Given the description of an element on the screen output the (x, y) to click on. 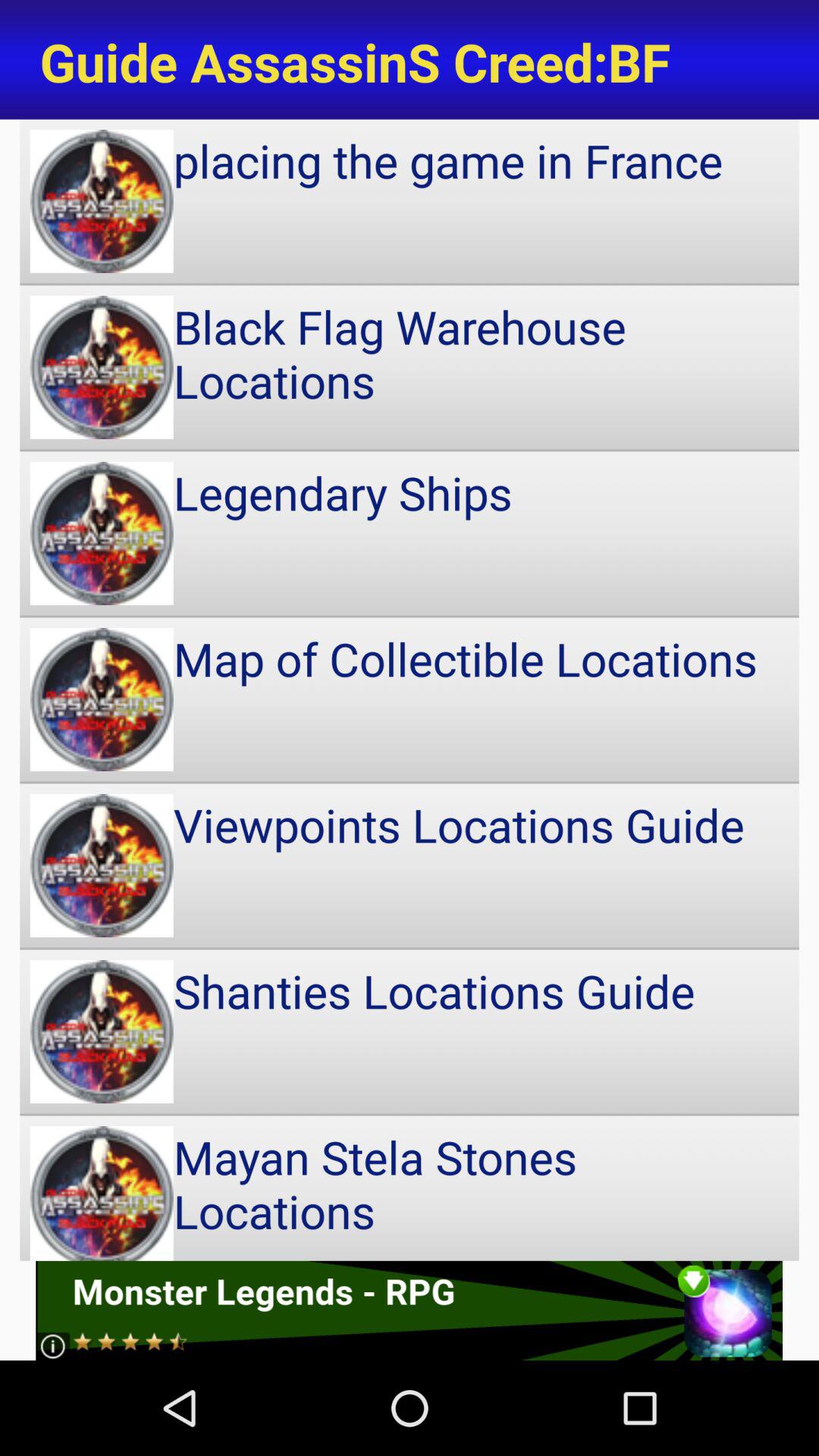
select icon above the viewpoints locations guide (409, 699)
